Given the description of an element on the screen output the (x, y) to click on. 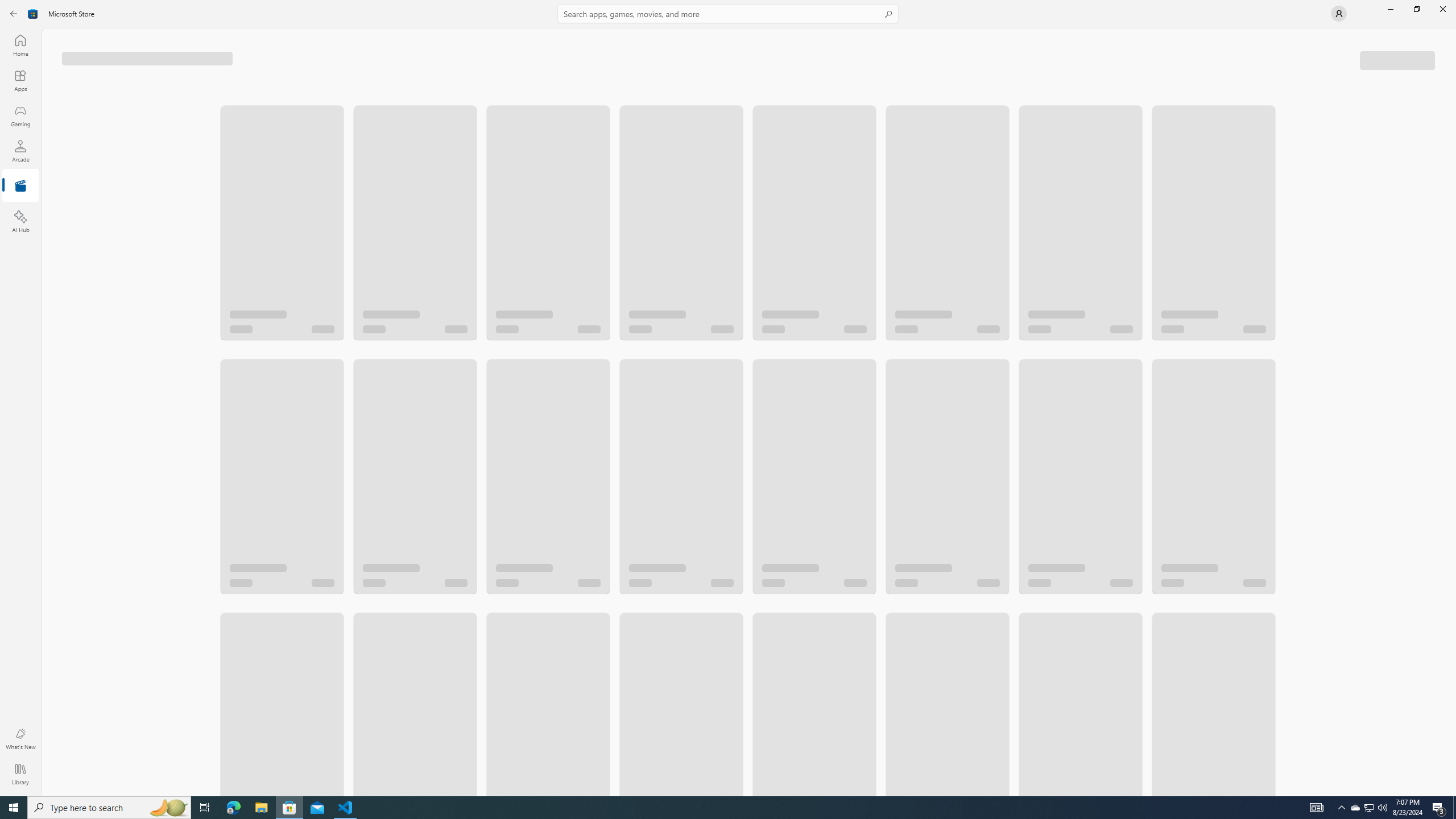
Vertical (1452, 412)
Filters (1397, 59)
Planet of the Apes Trilogy. Starts at $39.99   (813, 444)
